Given the description of an element on the screen output the (x, y) to click on. 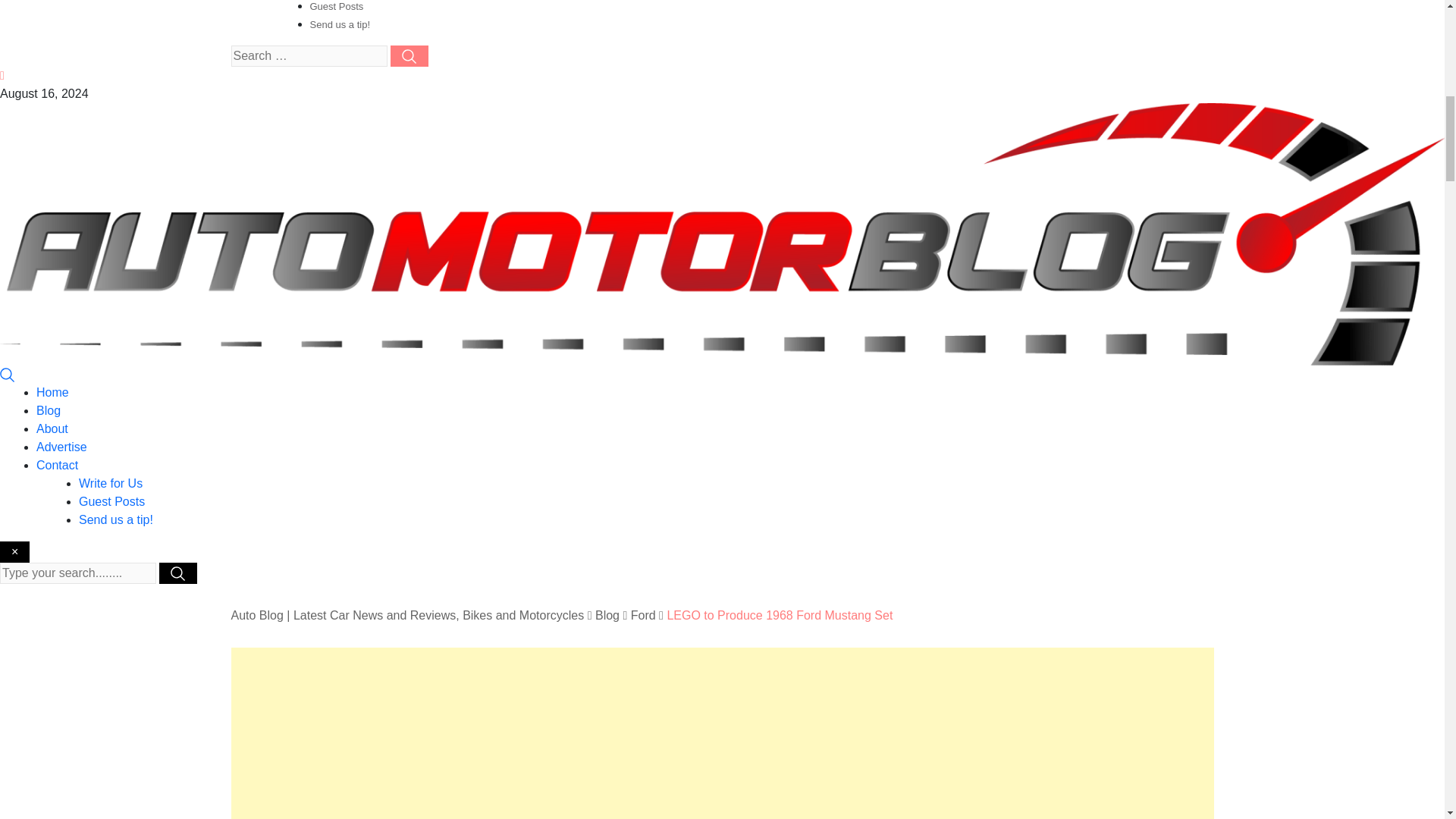
Search (7, 373)
Guest Posts (335, 6)
Go to the Ford Category archives. (643, 615)
About (52, 428)
Home (52, 391)
Send us a tip! (338, 24)
Contact (57, 464)
Write for Us (110, 482)
Advertise (61, 446)
Guest Posts (111, 501)
